Given the description of an element on the screen output the (x, y) to click on. 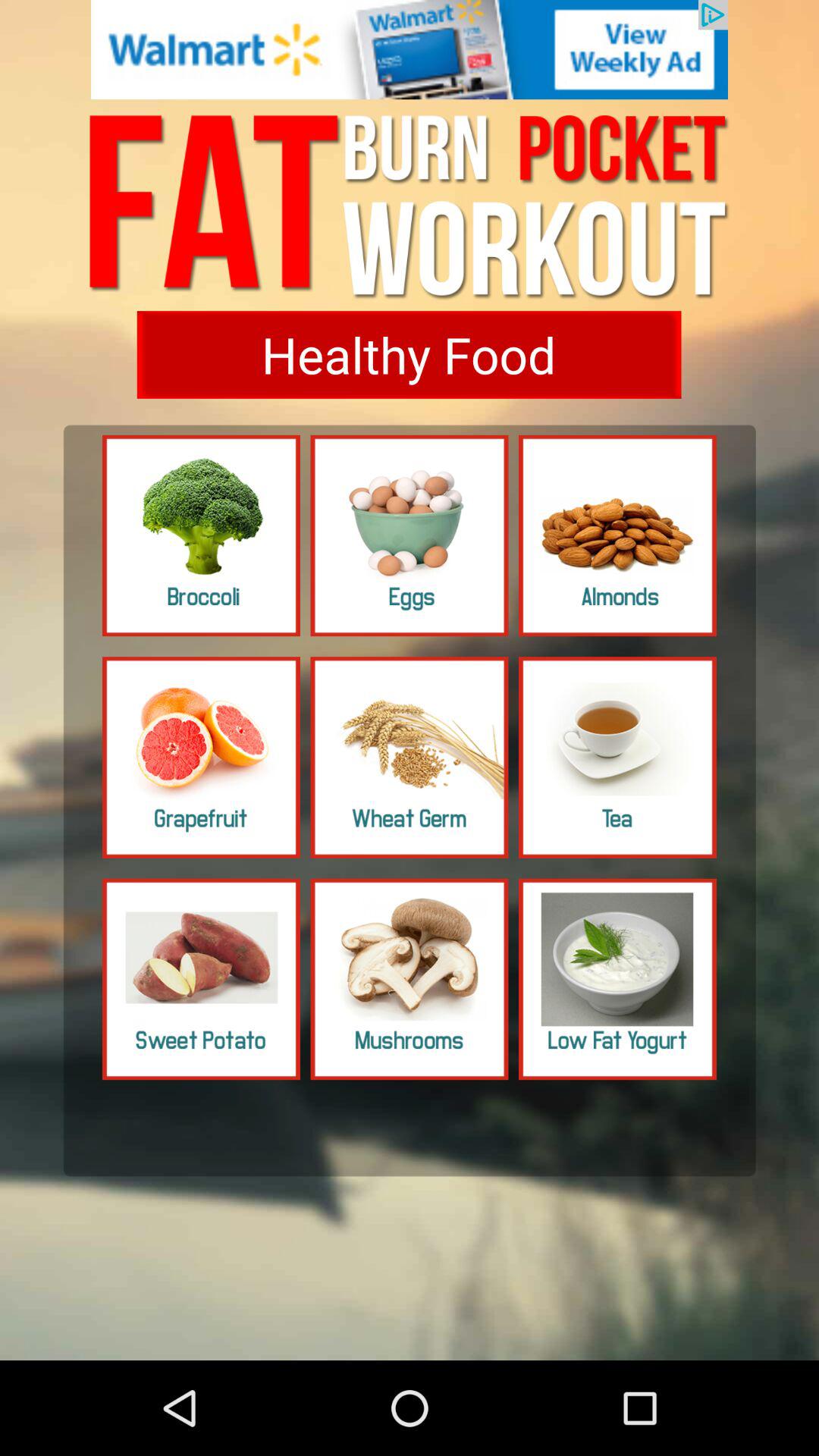
click to low fat yogurt option (617, 979)
